Given the description of an element on the screen output the (x, y) to click on. 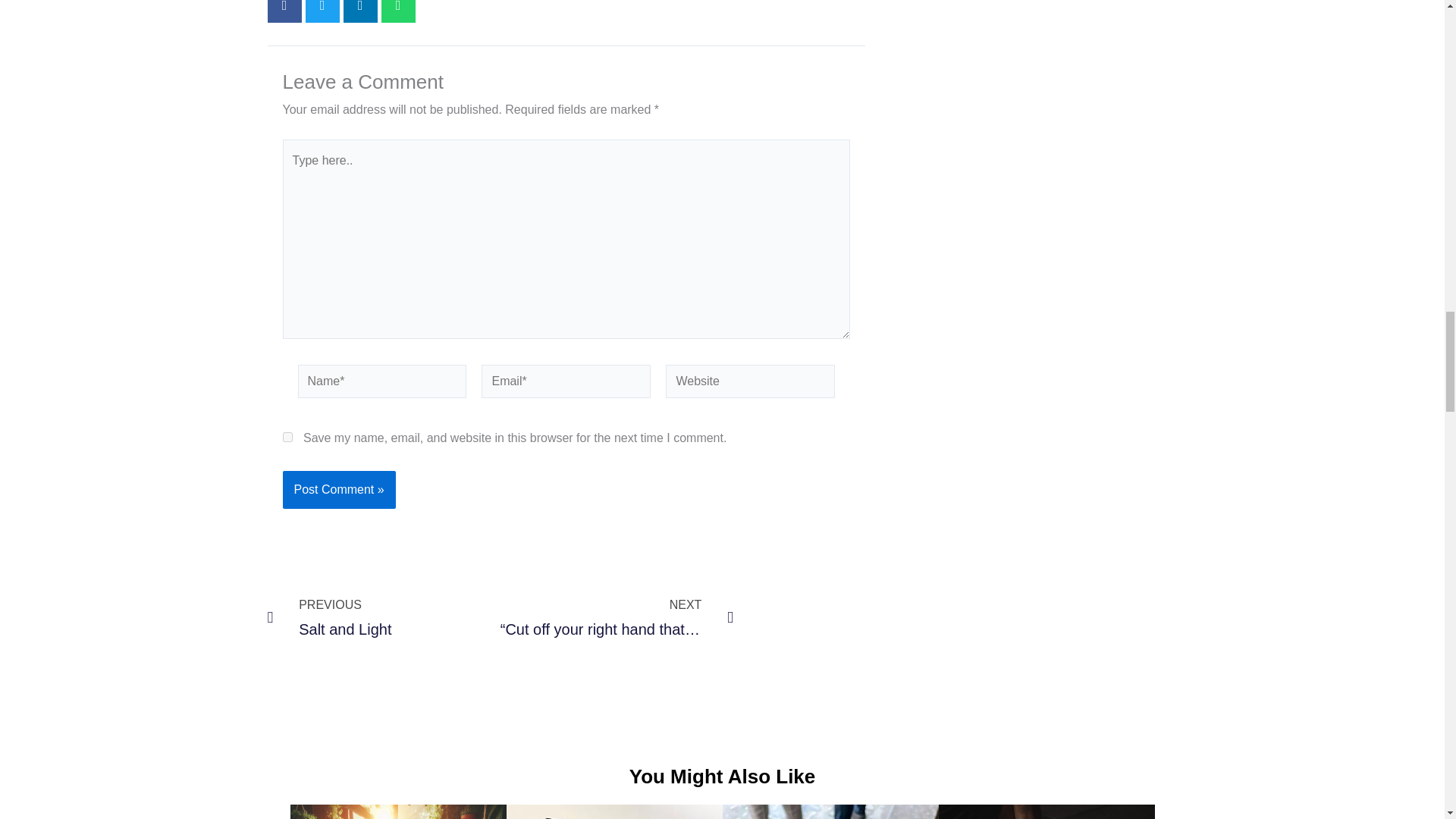
yes (287, 437)
